Given the description of an element on the screen output the (x, y) to click on. 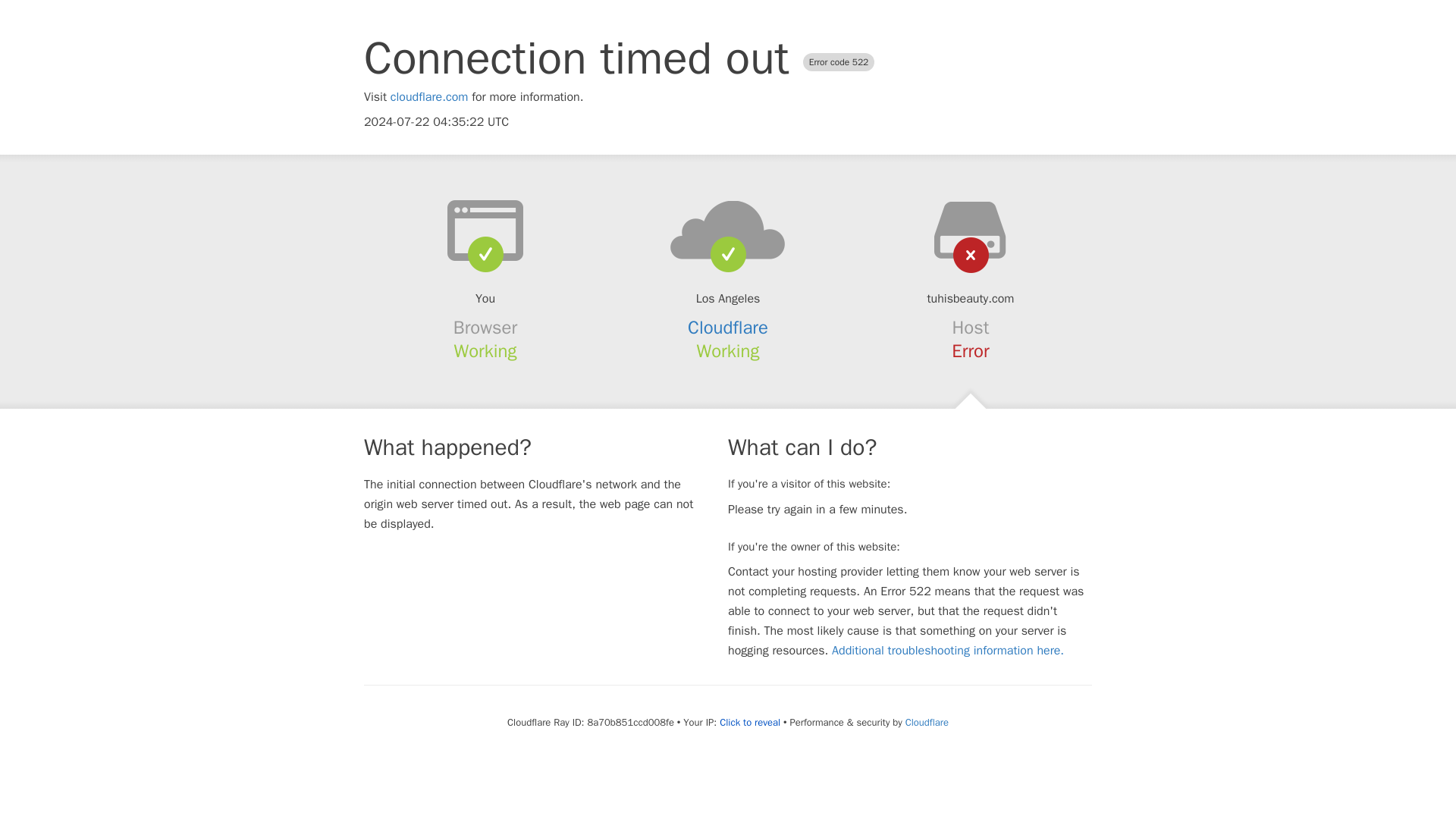
Cloudflare (927, 721)
cloudflare.com (429, 96)
Cloudflare (727, 327)
Click to reveal (749, 722)
Additional troubleshooting information here. (947, 650)
